Given the description of an element on the screen output the (x, y) to click on. 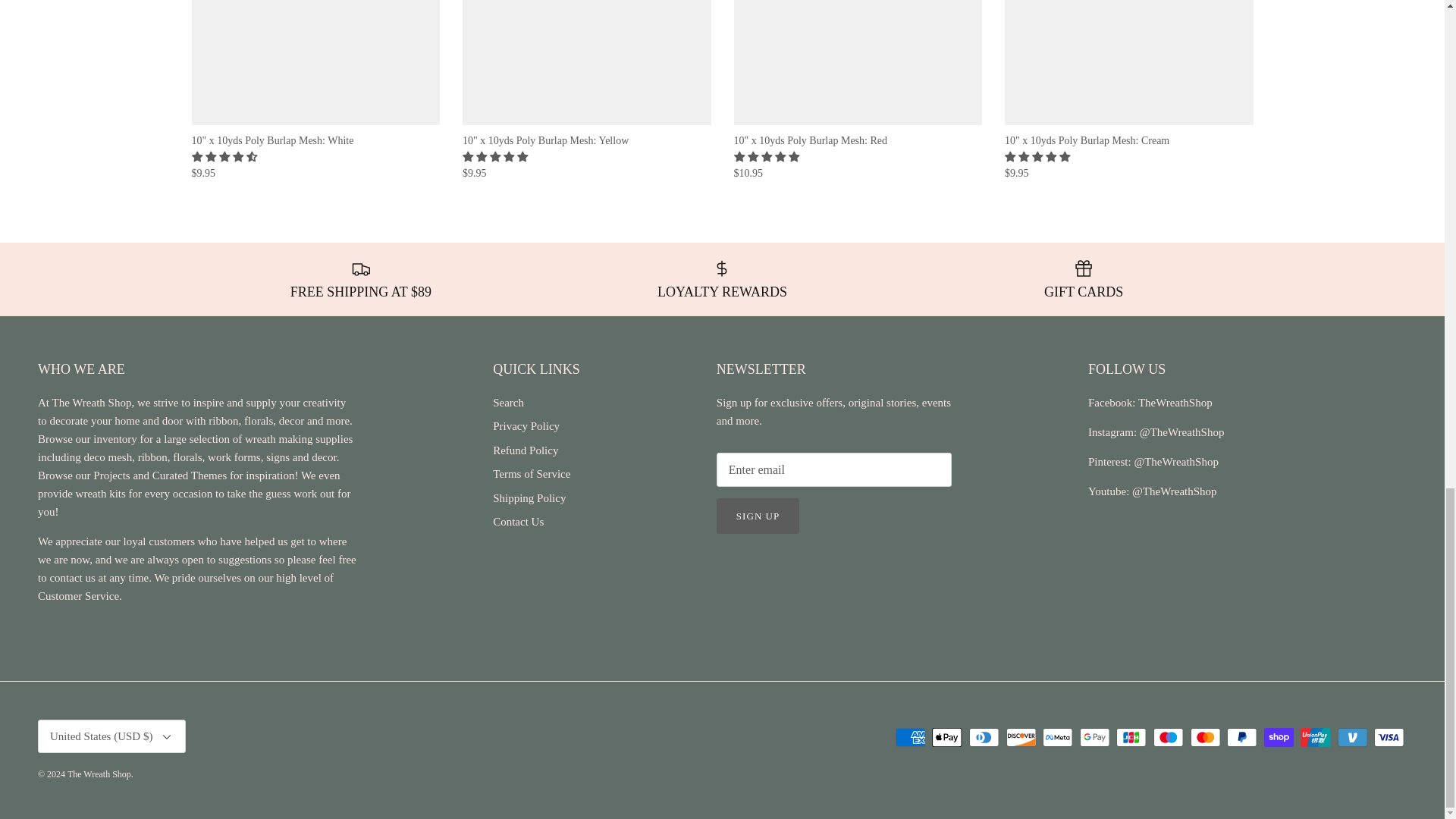
Diners Club (983, 737)
Meta Pay (1057, 737)
American Express (910, 737)
Discover (1021, 737)
Google Pay (1094, 737)
JCB (1130, 737)
Apple Pay (946, 737)
